Given the description of an element on the screen output the (x, y) to click on. 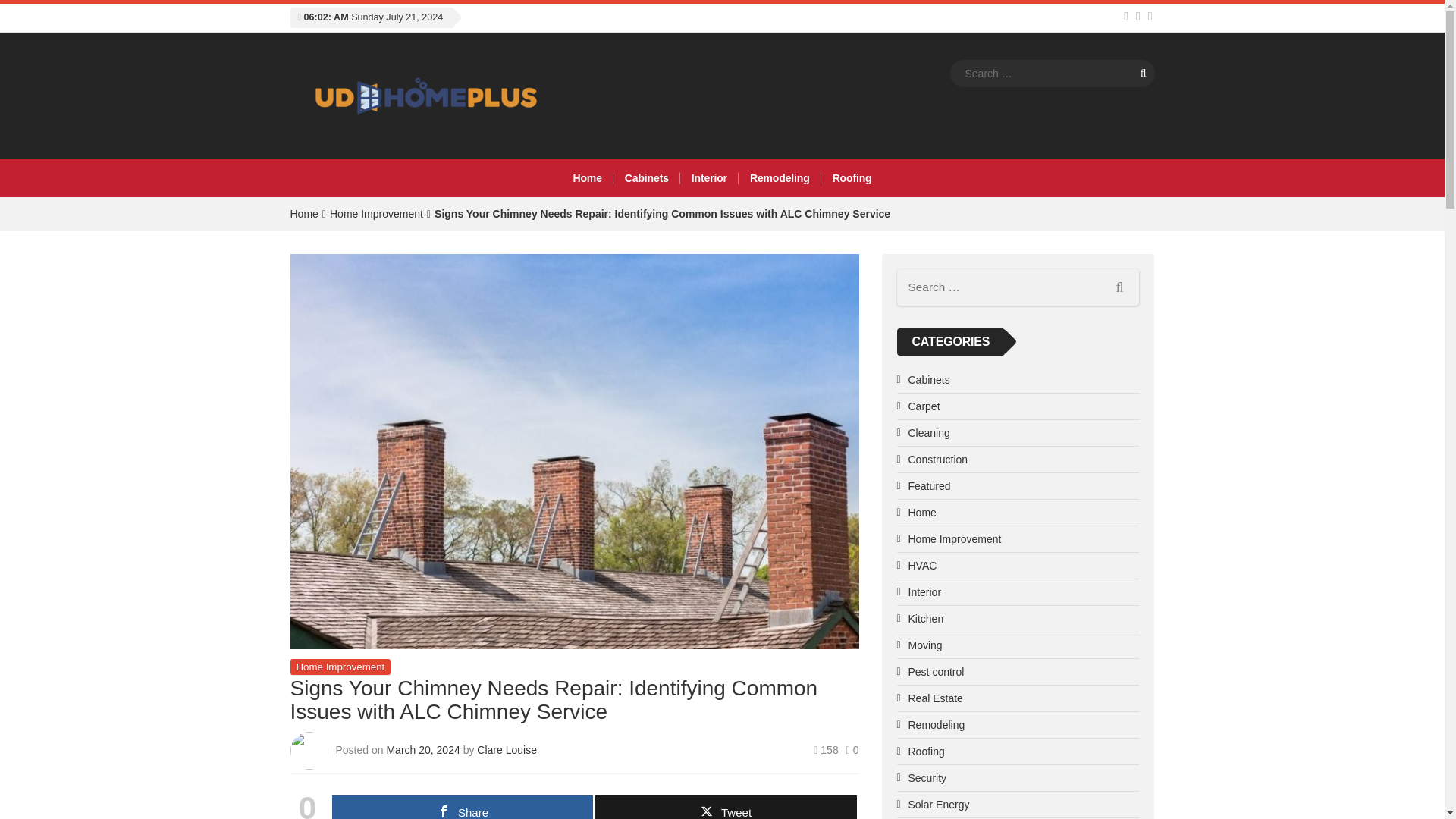
Home Improvement (339, 666)
0 (852, 749)
Share (461, 807)
March 20, 2024 (424, 749)
Clare Louise (507, 749)
Remodeling (779, 177)
Home (303, 214)
Home (586, 177)
Interior (708, 177)
Tweet (725, 807)
Cabinets (645, 177)
Home (303, 214)
Search for: (1051, 72)
Roofing (852, 177)
